Given the description of an element on the screen output the (x, y) to click on. 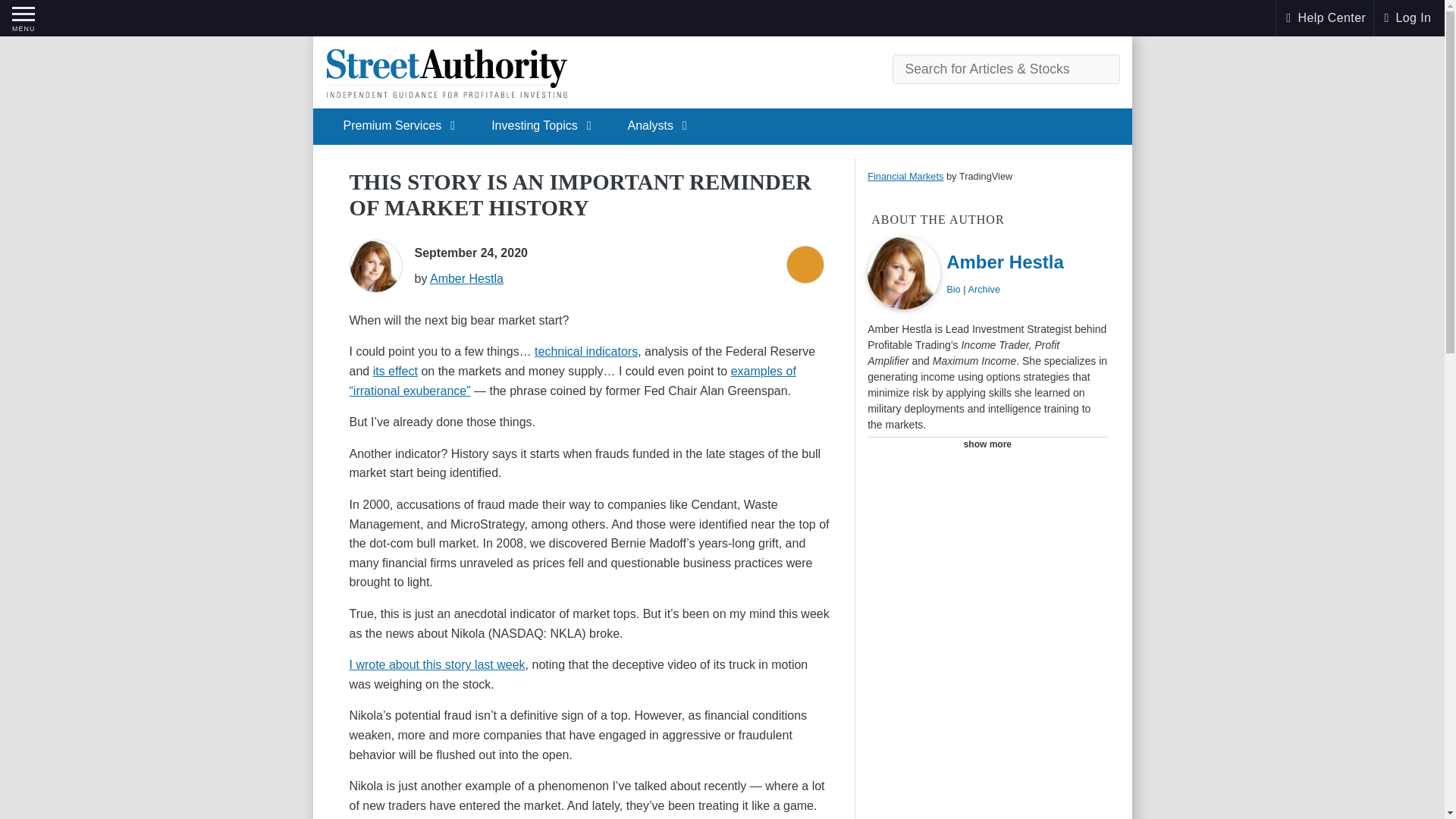
Help Center (1324, 17)
Investing Topics (535, 125)
Street Authority (445, 73)
Log In (1406, 17)
Premium Services (391, 125)
